Given the description of an element on the screen output the (x, y) to click on. 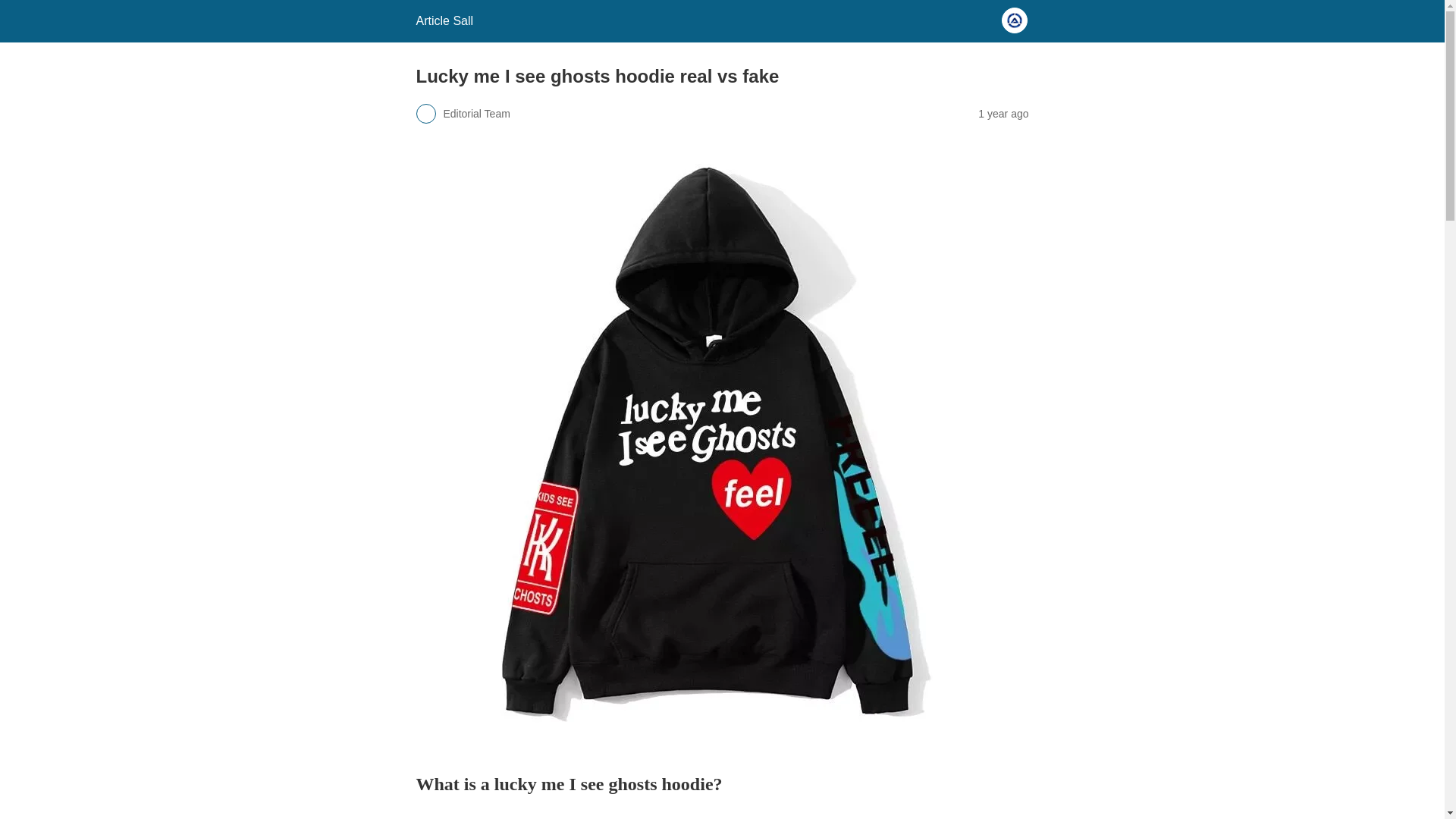
Article Sall (443, 20)
